Given the description of an element on the screen output the (x, y) to click on. 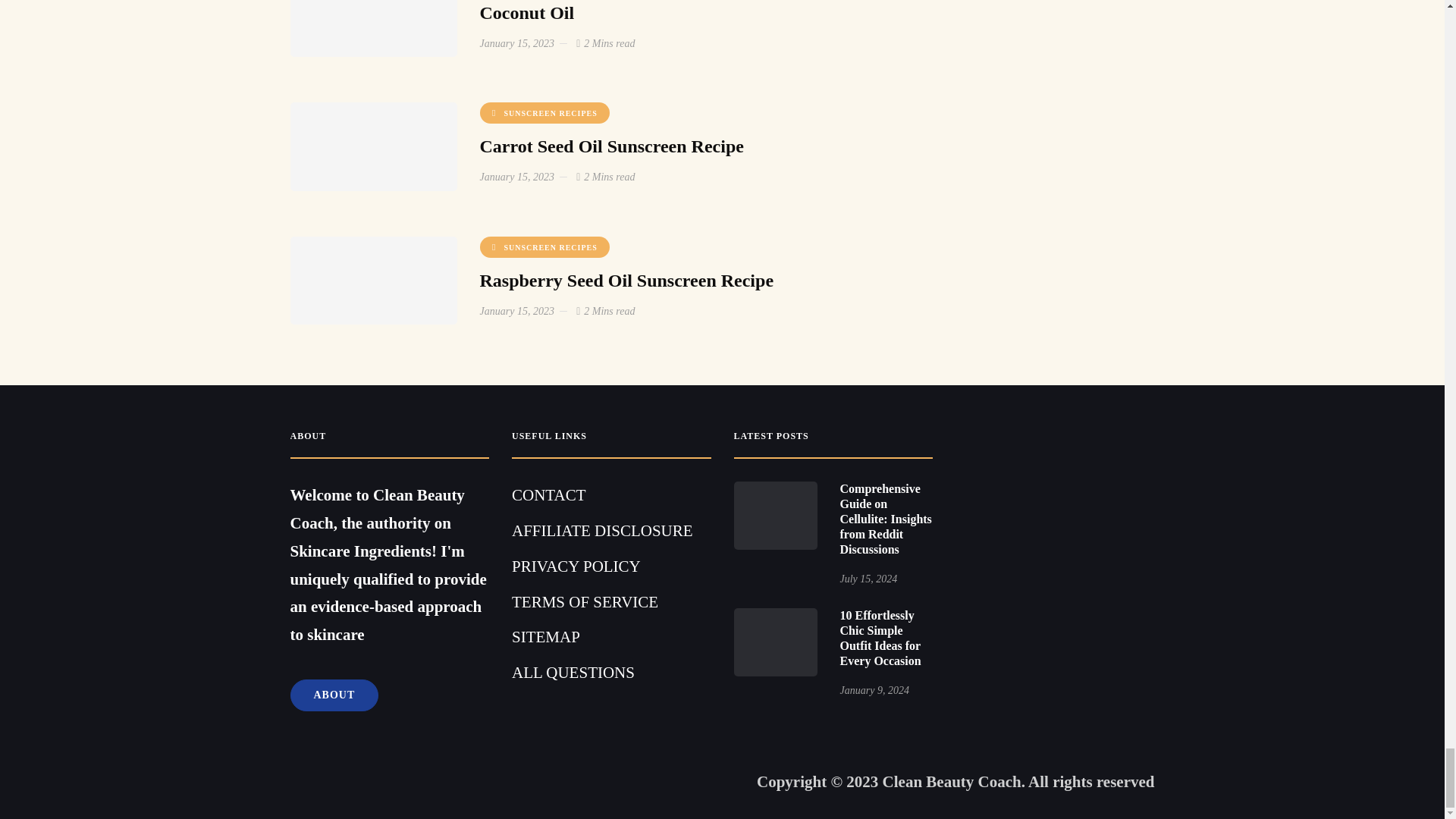
Homemade Sunscreen With Zinc Oxide and Coconut Oil (650, 11)
